Given the description of an element on the screen output the (x, y) to click on. 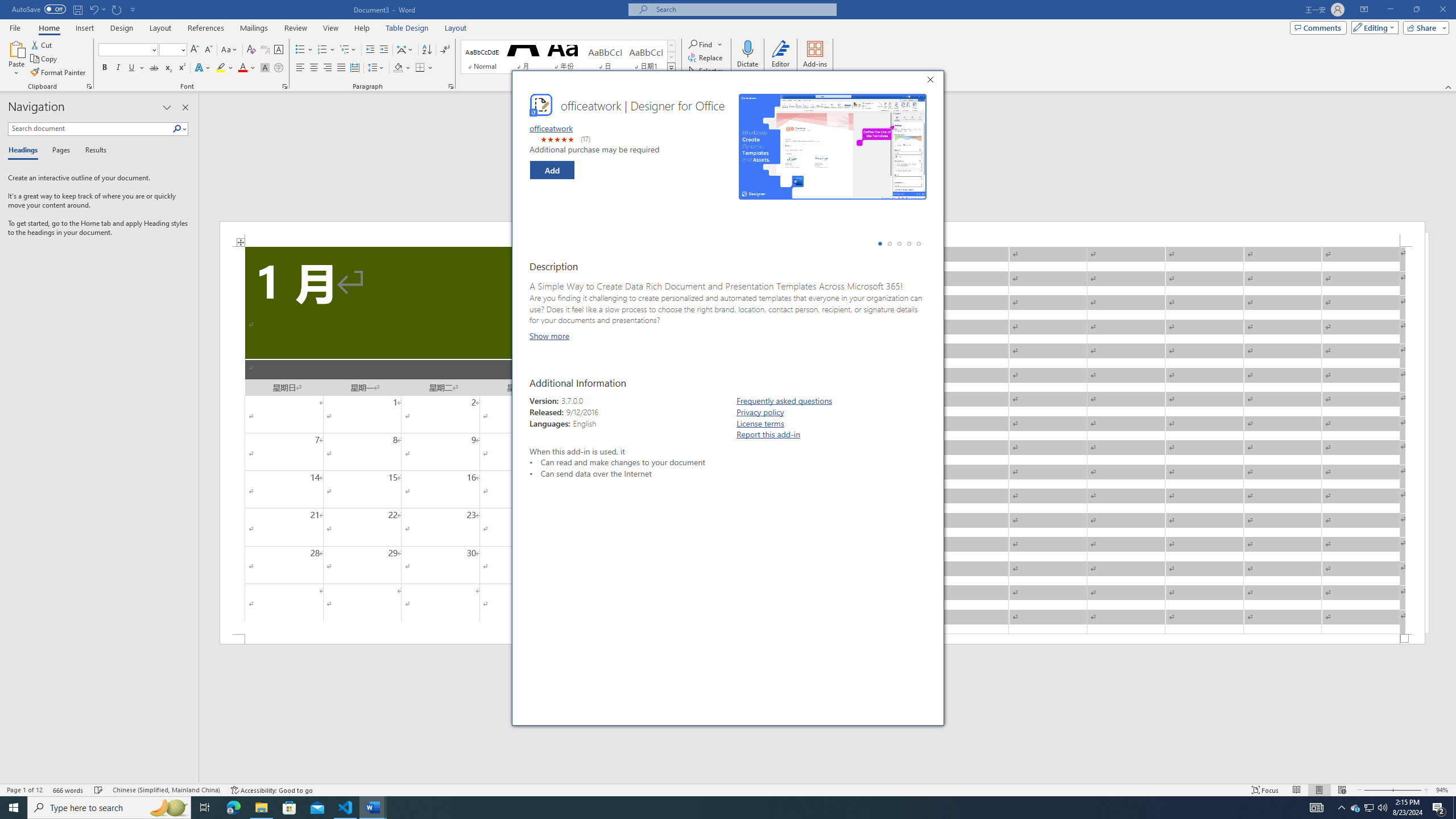
Repeat Grow Font (117, 9)
Screenshot 1 selected (879, 243)
Frequently asked questions (783, 400)
